Given the description of an element on the screen output the (x, y) to click on. 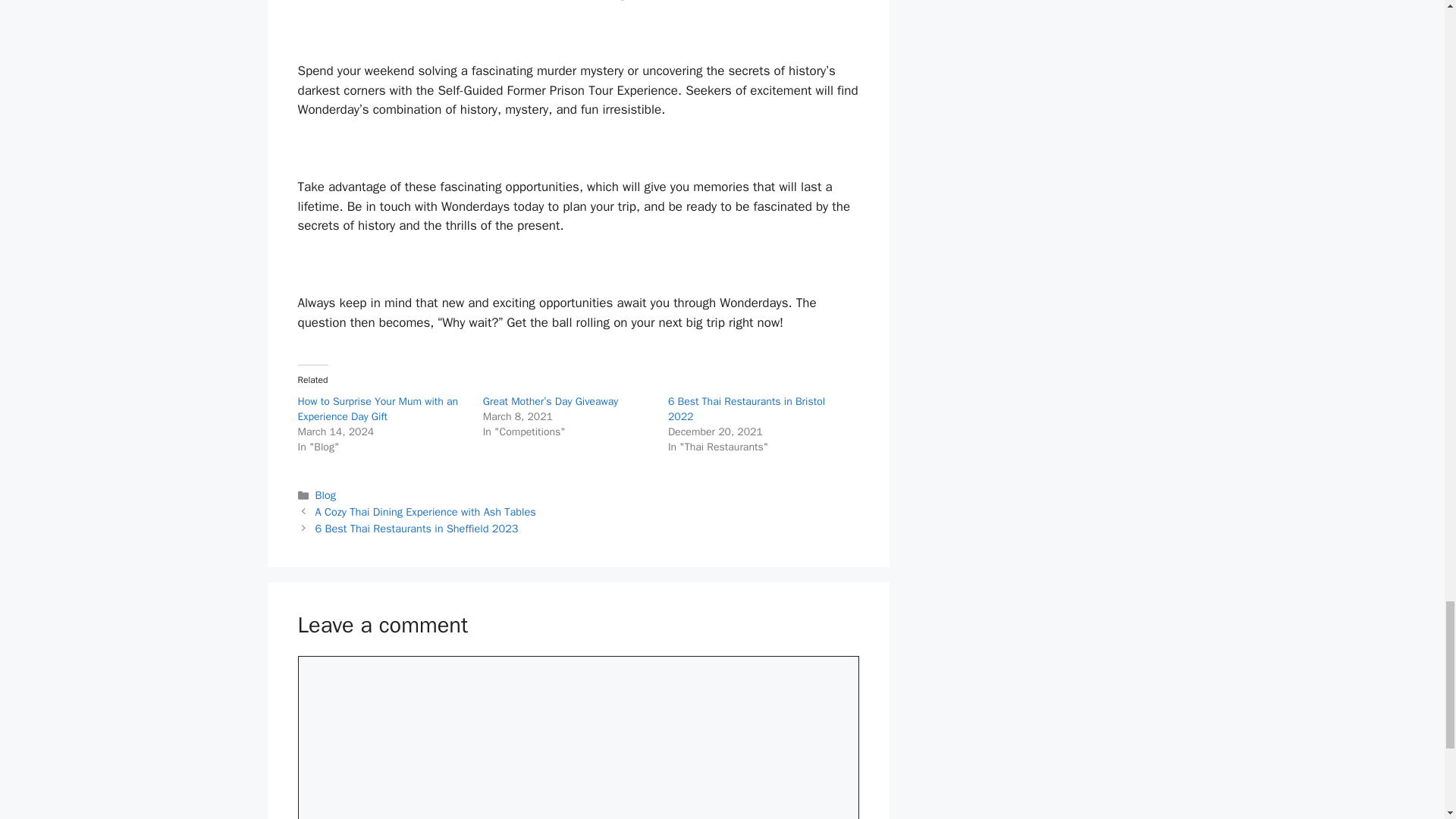
6 Best Thai Restaurants in Bristol 2022 (746, 408)
Blog (325, 495)
A Cozy Thai Dining Experience with Ash Tables (425, 511)
How to Surprise Your Mum with an Experience Day Gift (377, 408)
How to Surprise Your Mum with an Experience Day Gift (377, 408)
6 Best Thai Restaurants in Sheffield 2023 (416, 528)
6 Best Thai Restaurants in Bristol 2022 (746, 408)
